Given the description of an element on the screen output the (x, y) to click on. 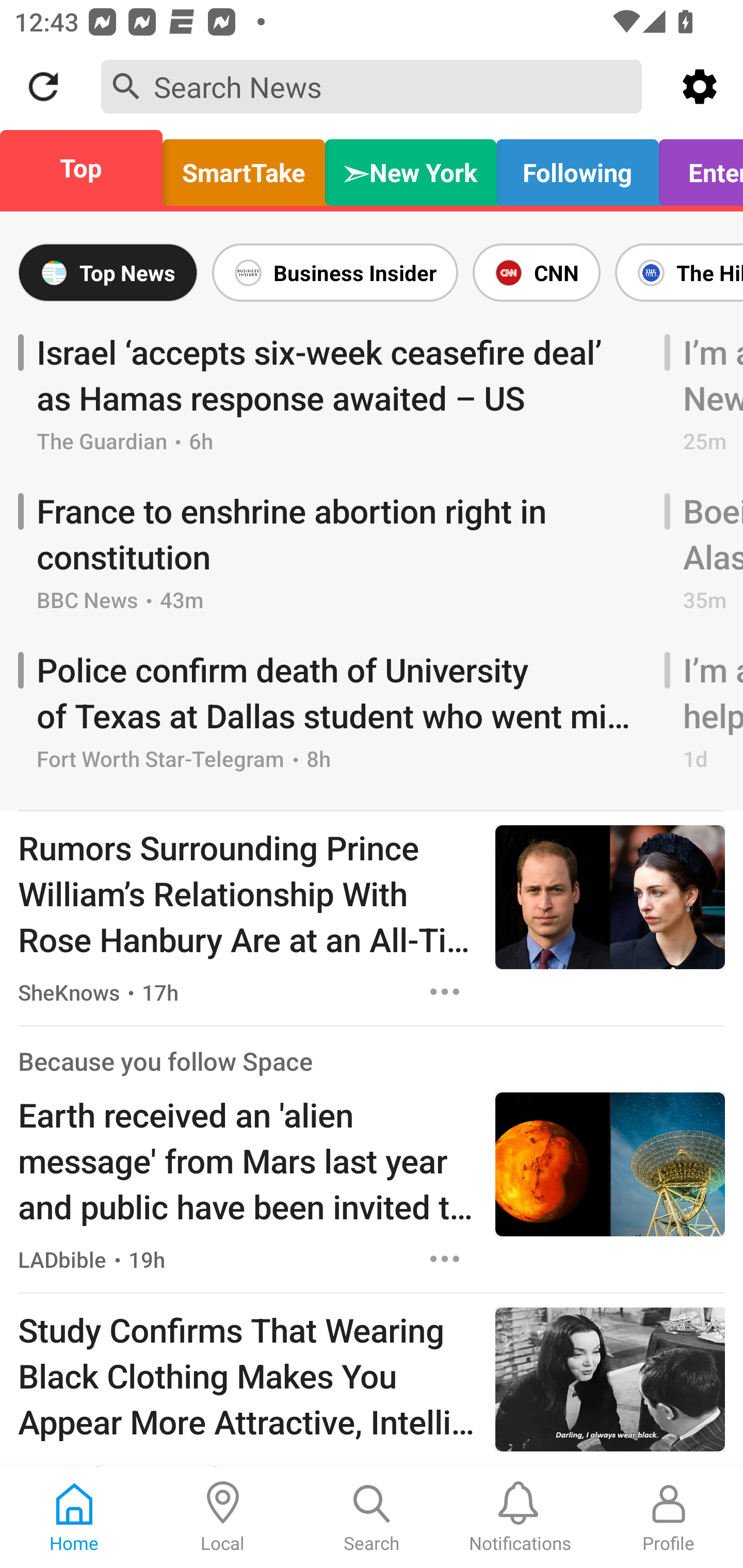
Search News (371, 85)
Top (86, 167)
SmartTake (243, 167)
➣New York (410, 167)
Following (577, 167)
Business Insider (335, 272)
CNN (536, 272)
Options (444, 991)
Because you follow Space (164, 1061)
Options (444, 1259)
Local (222, 1517)
Search (371, 1517)
Notifications (519, 1517)
Profile (668, 1517)
